Given the description of an element on the screen output the (x, y) to click on. 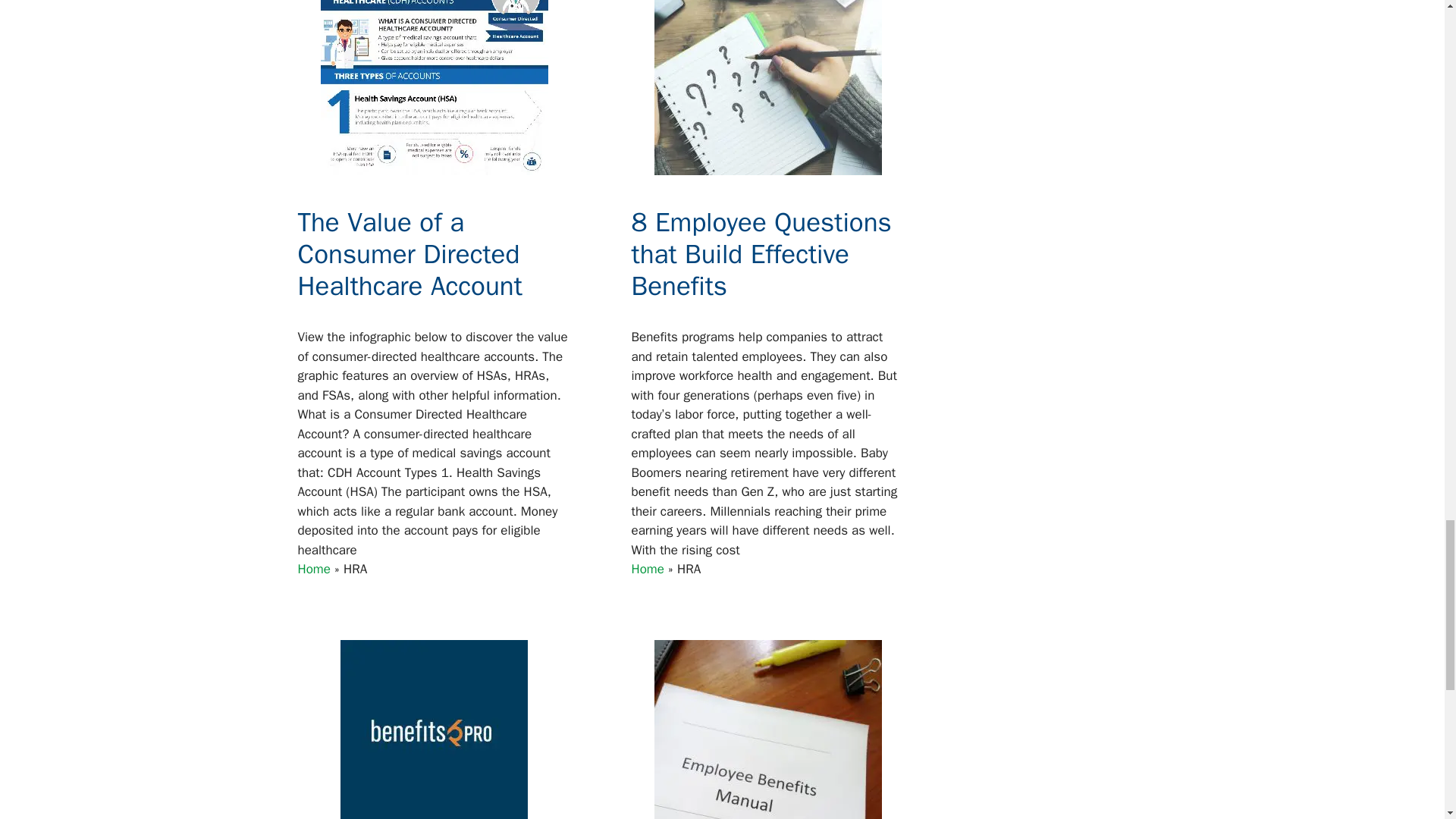
Home (646, 569)
Home (313, 569)
The Value of a Consumer Directed Healthcare Account (409, 253)
8 Employee Questions that Build Effective Benefits (760, 253)
